Given the description of an element on the screen output the (x, y) to click on. 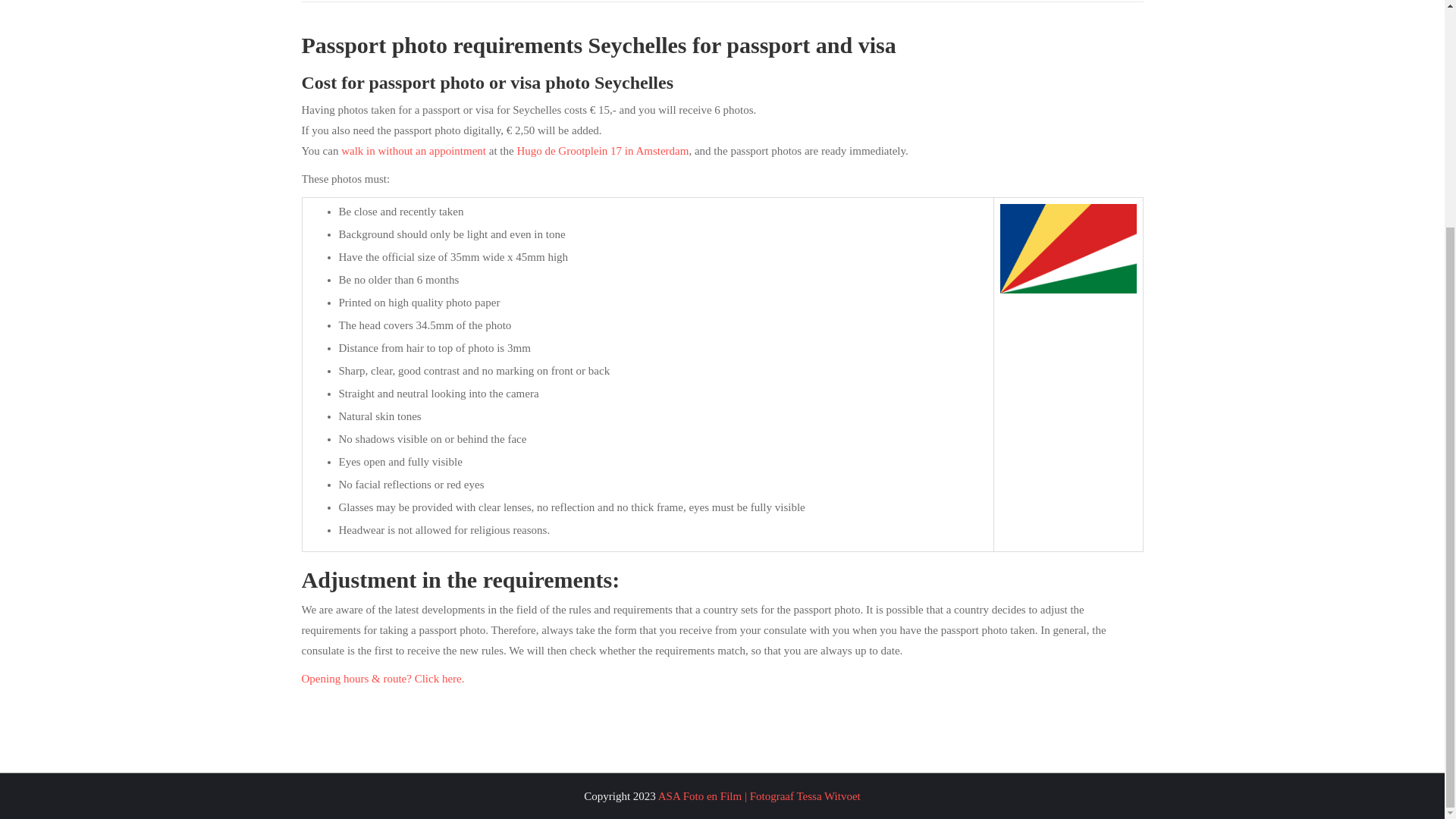
Hugo de Grootplein 17 in Amsterdam (602, 150)
walk in without an appointment (413, 150)
